Given the description of an element on the screen output the (x, y) to click on. 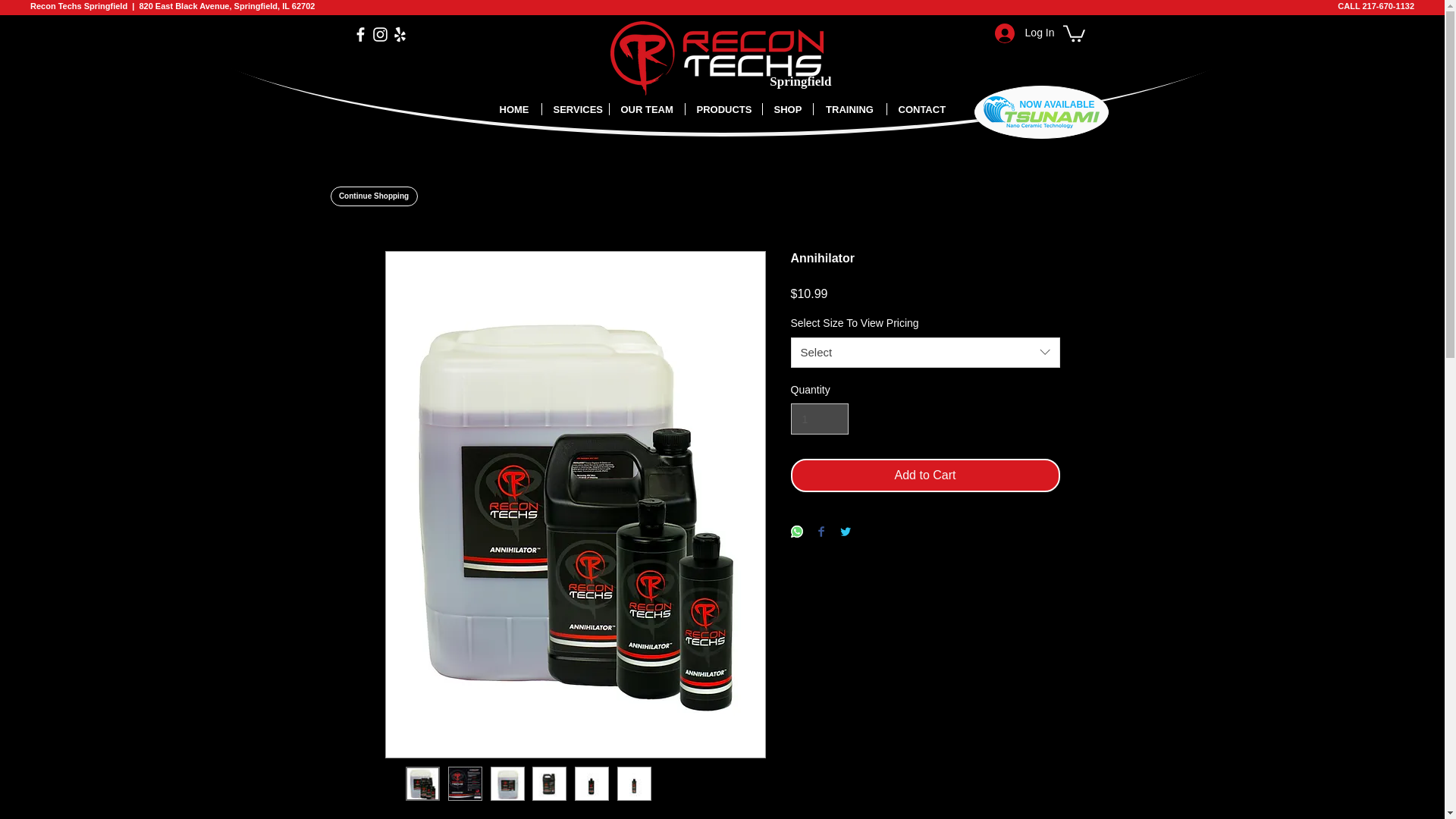
Add to Cart (924, 475)
Select (924, 352)
SHOP (787, 109)
SERVICES (574, 109)
Log In (1024, 32)
OUR TEAM (647, 109)
1 (818, 418)
PRODUCTS (723, 109)
NOW AVAILABLE (1056, 104)
TRAINING (848, 109)
